Given the description of an element on the screen output the (x, y) to click on. 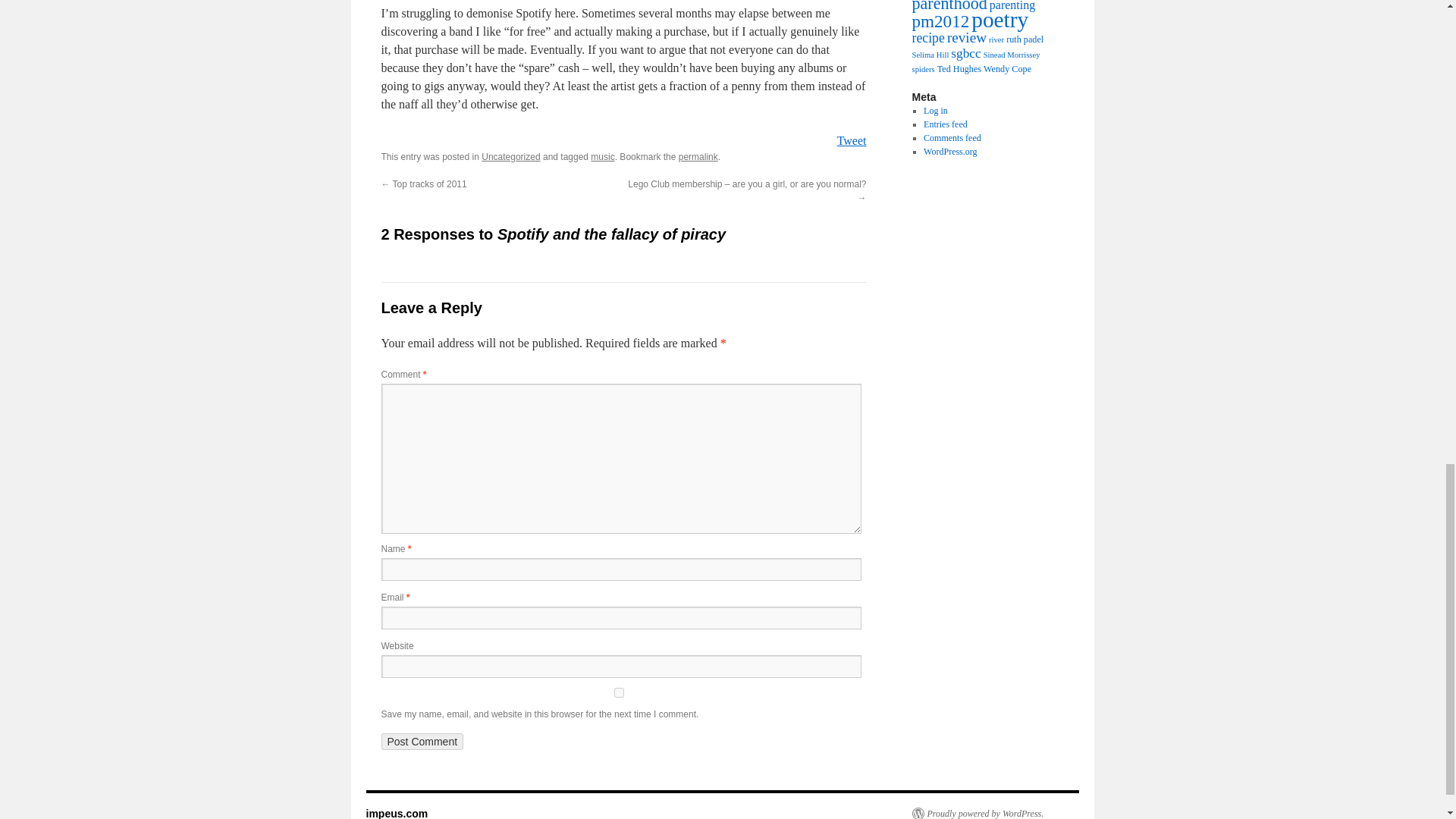
Tweet (851, 140)
Post Comment (421, 741)
Uncategorized (510, 156)
yes (618, 692)
Post Comment (421, 741)
Permalink to Spotify and the fallacy of piracy (697, 156)
music (602, 156)
permalink (697, 156)
